Given the description of an element on the screen output the (x, y) to click on. 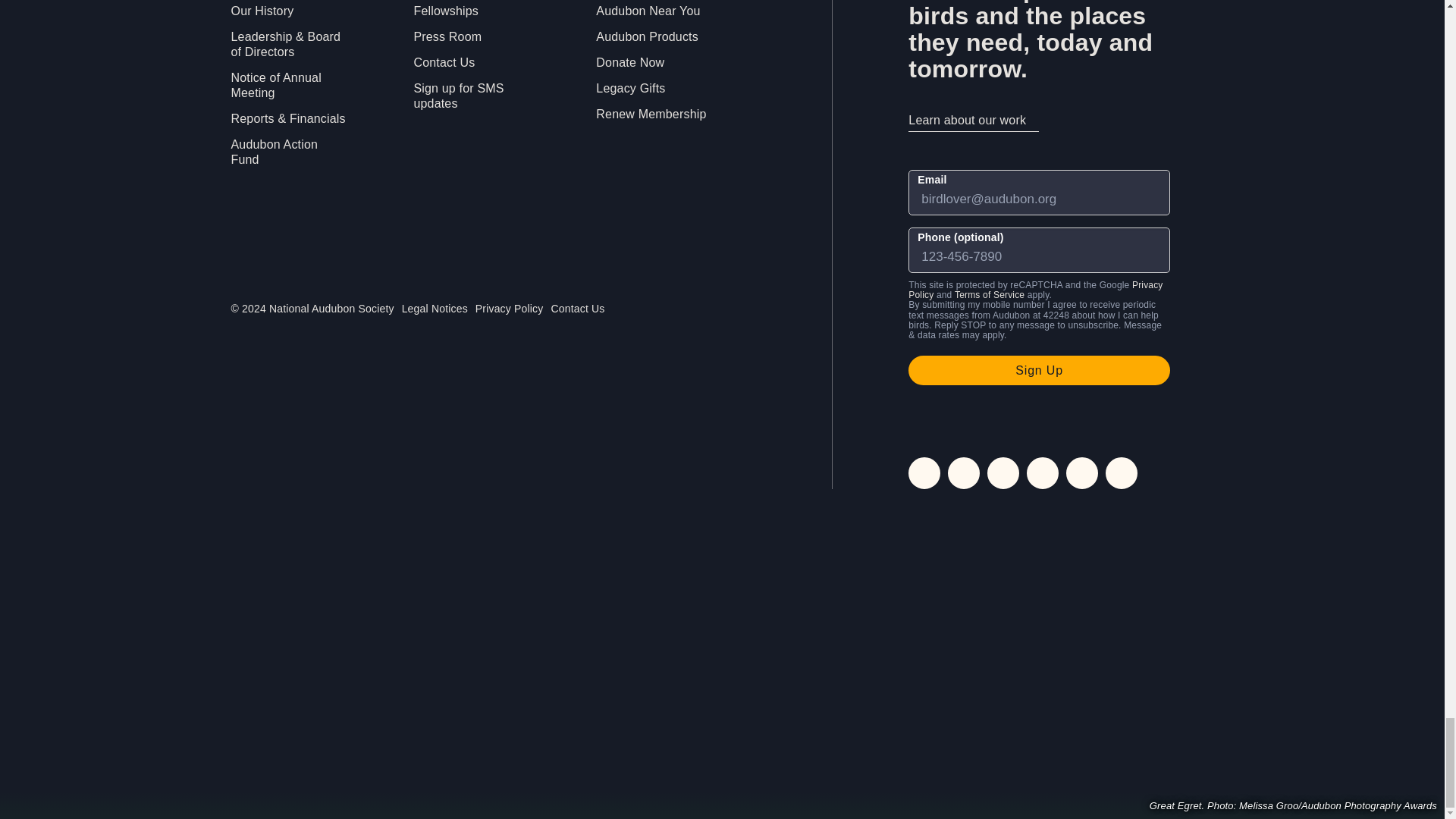
Audubon on Twitter (1003, 472)
Audubon on Pinterest (1121, 472)
Audubon on Facebook (963, 472)
Audubon on Tiktok (1081, 472)
Sign Up (1039, 369)
Audubon on LinkedIn (1042, 472)
Audubon on Instagram (924, 472)
